Given the description of an element on the screen output the (x, y) to click on. 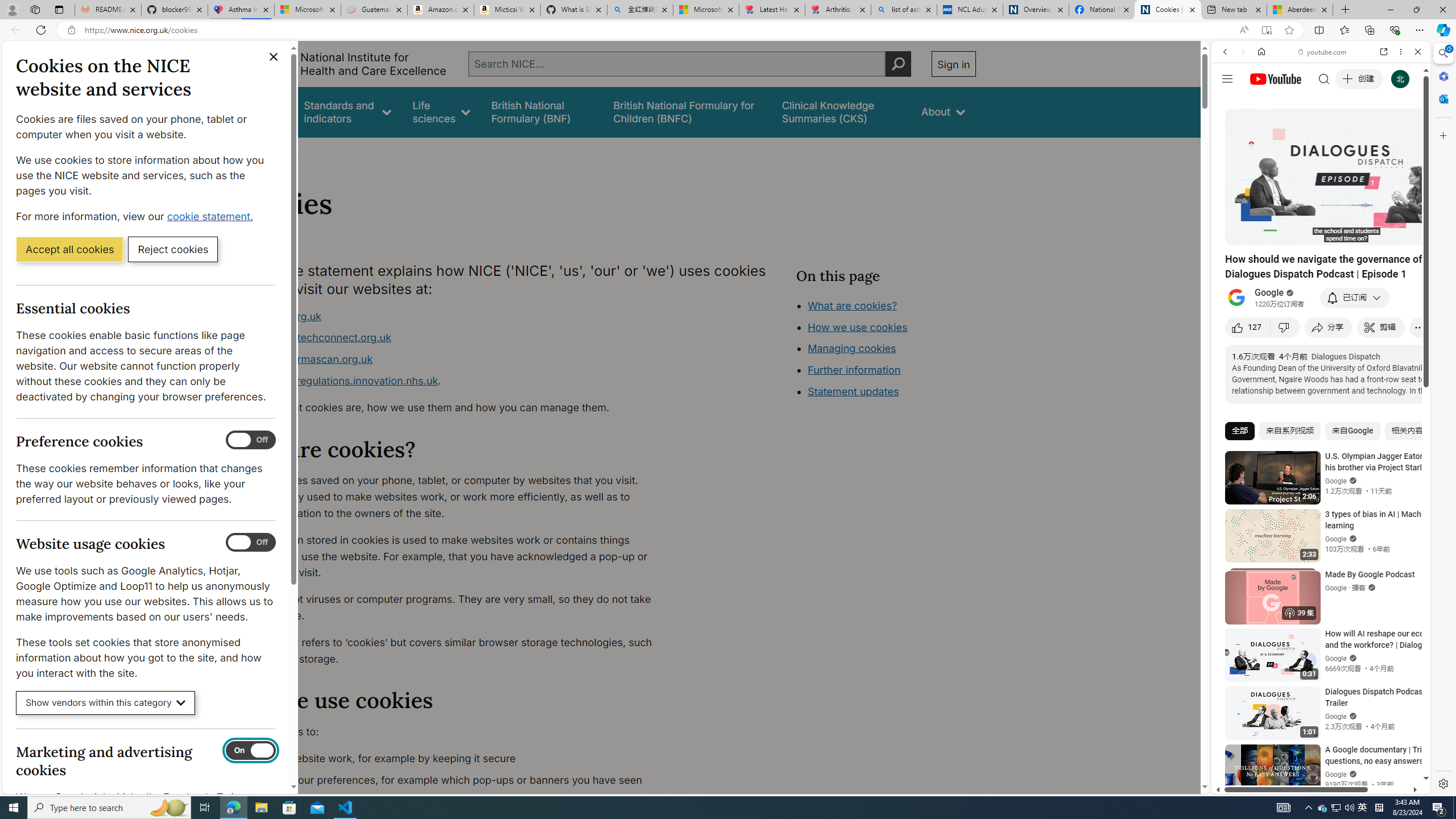
What are cookies? (852, 305)
Class: dict_pnIcon rms_img (1312, 784)
Google (1269, 292)
#you (1320, 253)
About (942, 111)
